Given the description of an element on the screen output the (x, y) to click on. 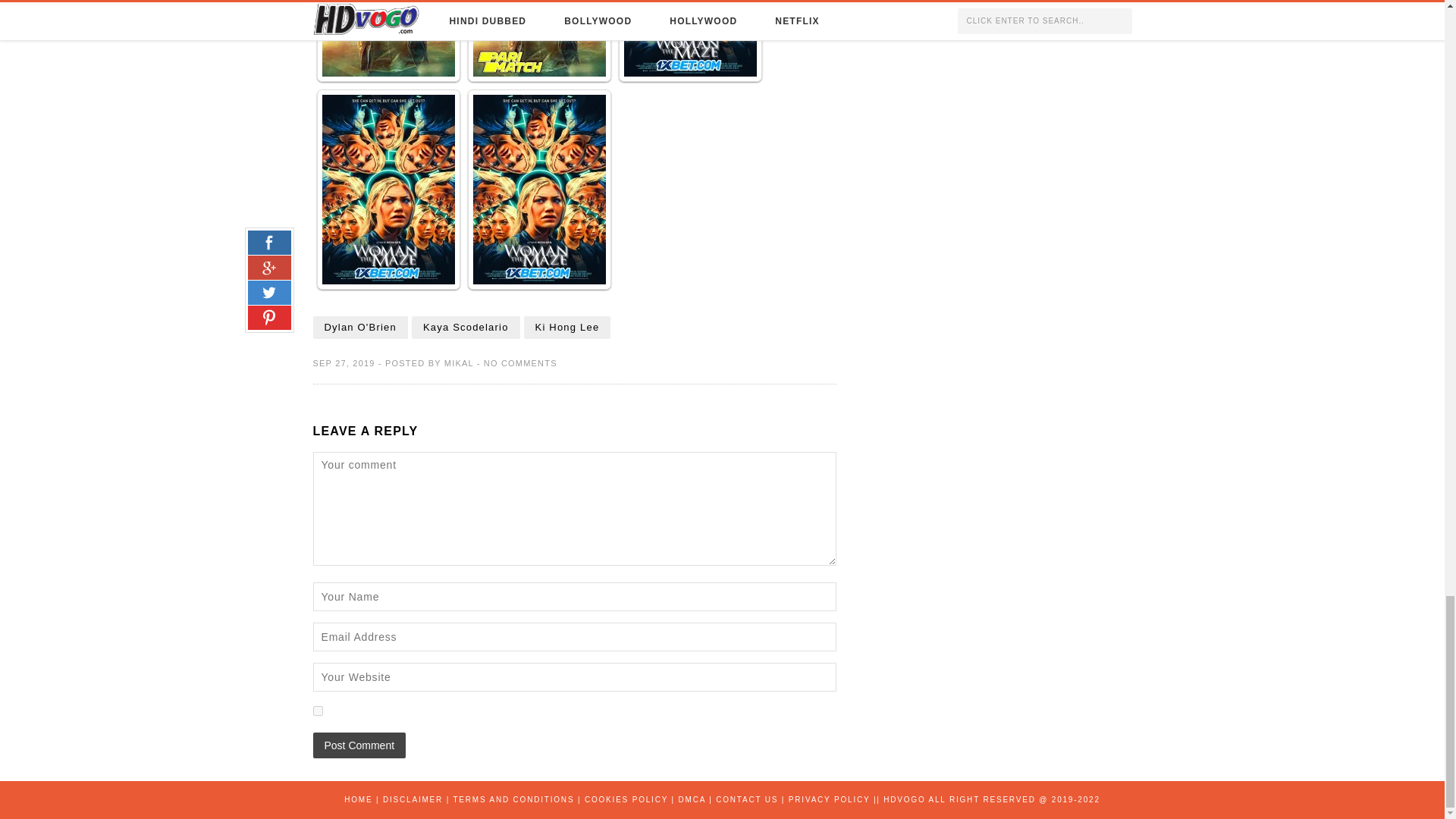
yes (317, 710)
Post Comment (359, 745)
